Given the description of an element on the screen output the (x, y) to click on. 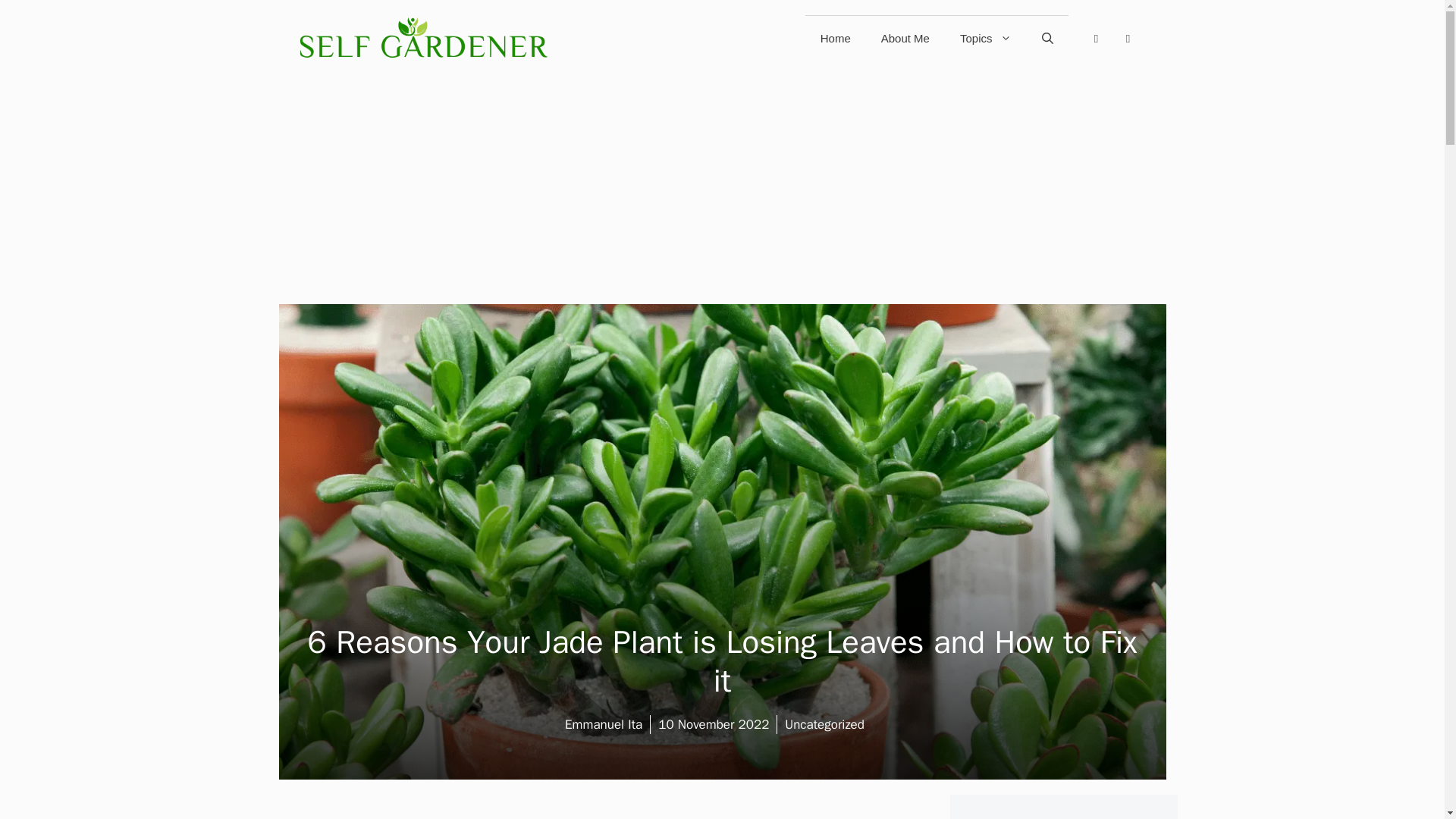
Self Gardener (422, 37)
About Me (905, 38)
Topics (985, 38)
Twitter (1127, 38)
Facebook (1095, 38)
Self Gardener (422, 37)
Home (835, 38)
